Given the description of an element on the screen output the (x, y) to click on. 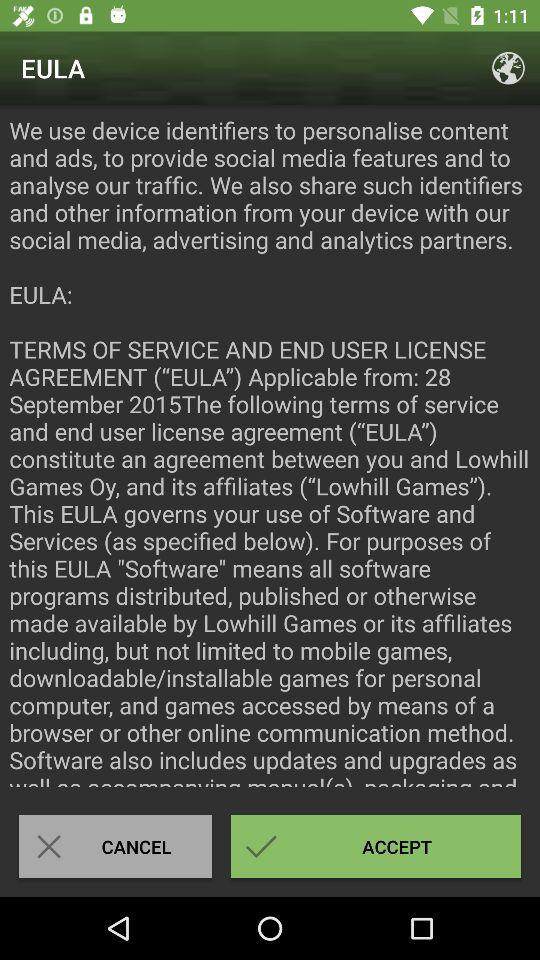
open the accept icon (375, 846)
